Given the description of an element on the screen output the (x, y) to click on. 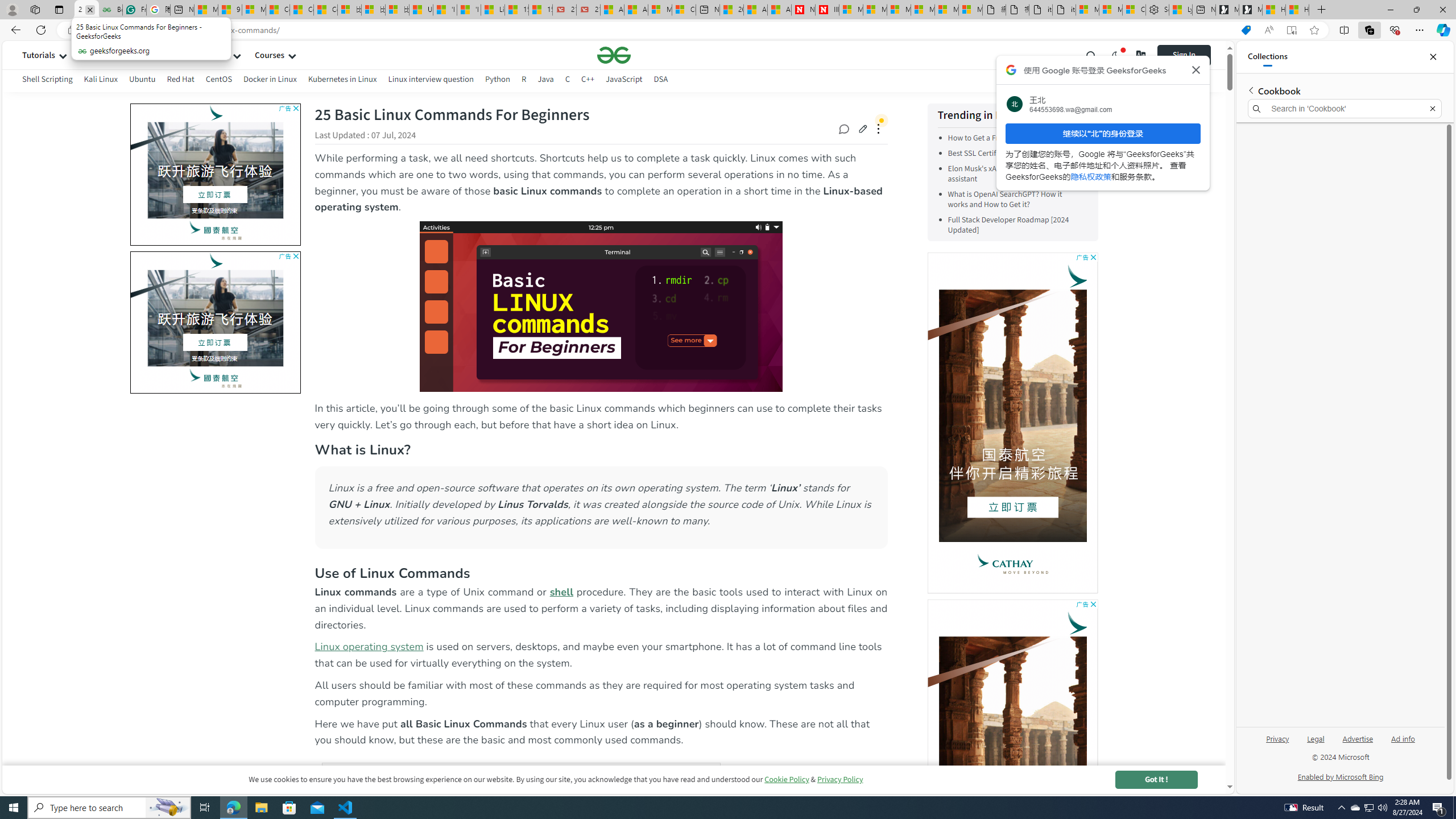
search (1091, 54)
AutomationID: tag (214, 321)
